Given the description of an element on the screen output the (x, y) to click on. 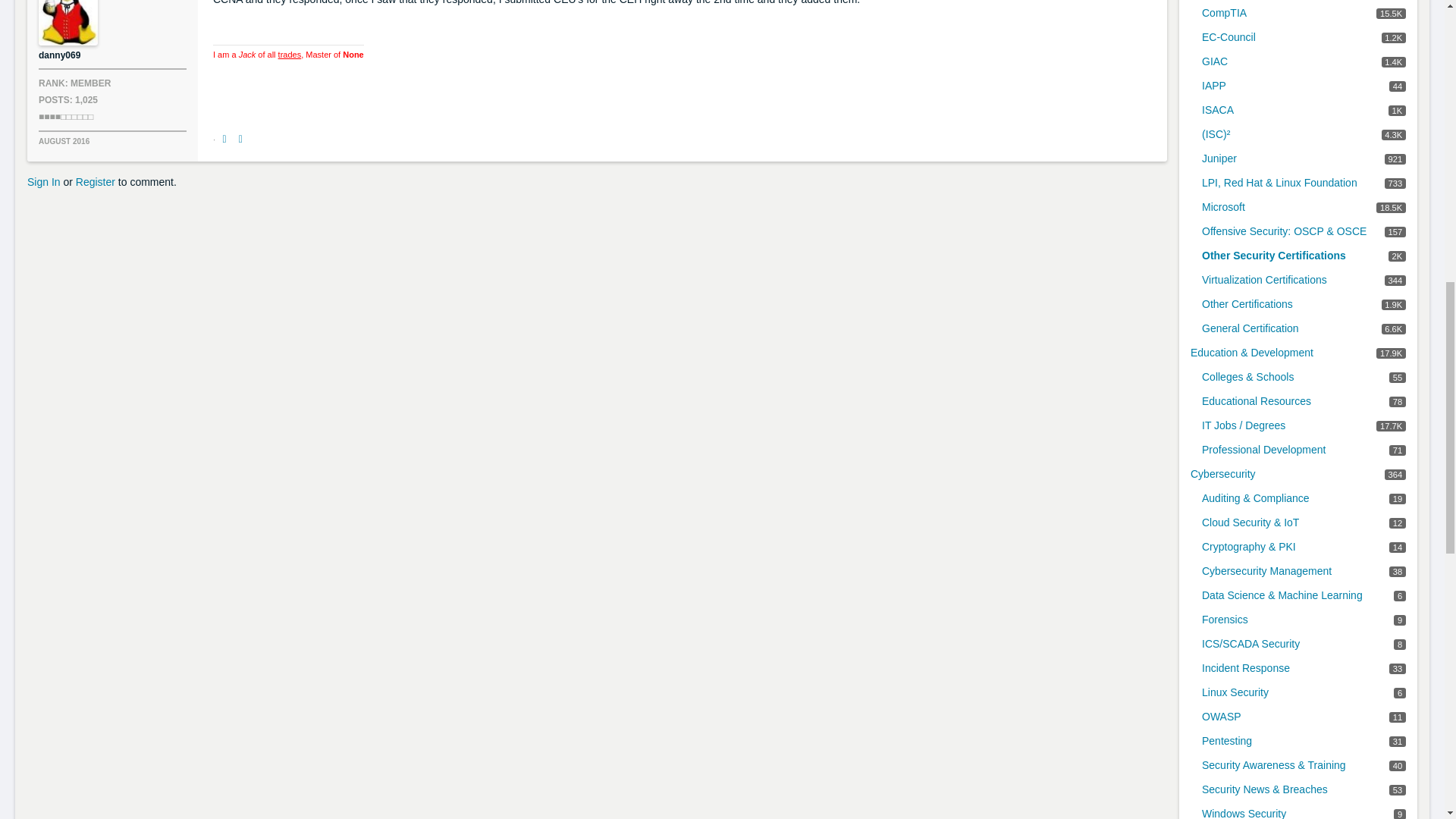
danny069 (68, 22)
August 27, 2016 8:13PM (63, 141)
Apprentice (66, 116)
